Given the description of an element on the screen output the (x, y) to click on. 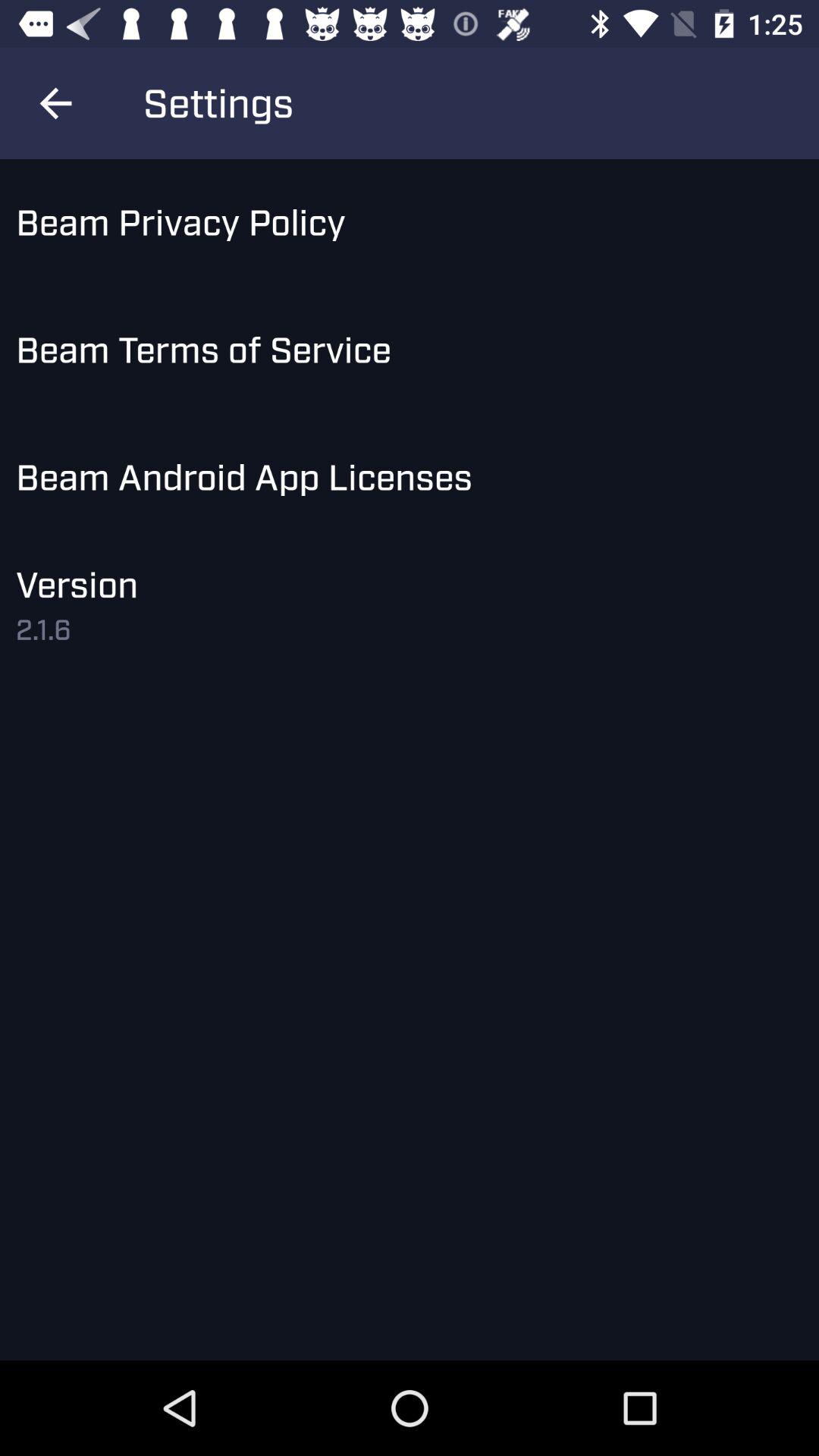
press the icon above the beam privacy policy icon (55, 103)
